Given the description of an element on the screen output the (x, y) to click on. 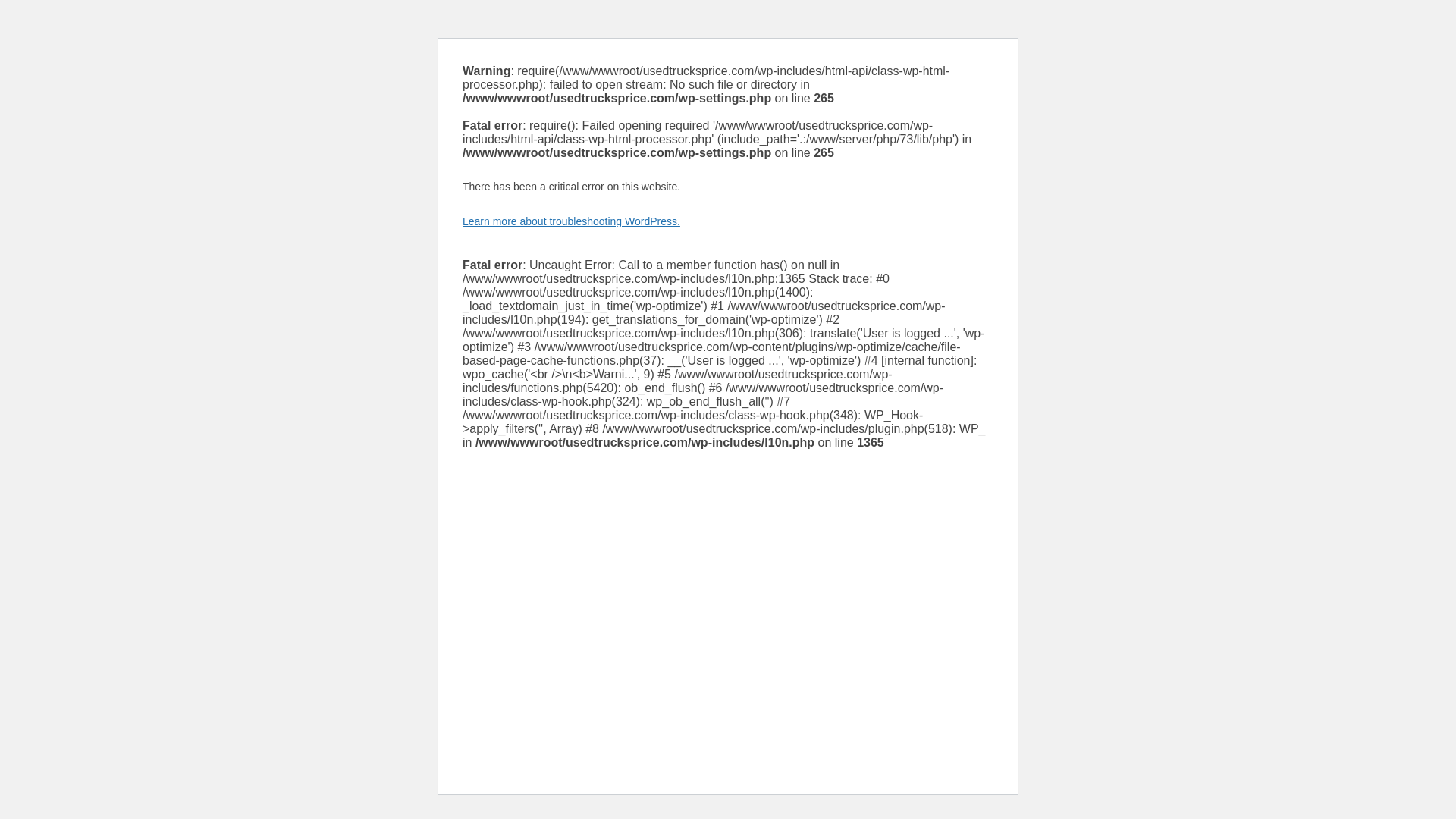
Learn more about troubleshooting WordPress. (571, 221)
